Given the description of an element on the screen output the (x, y) to click on. 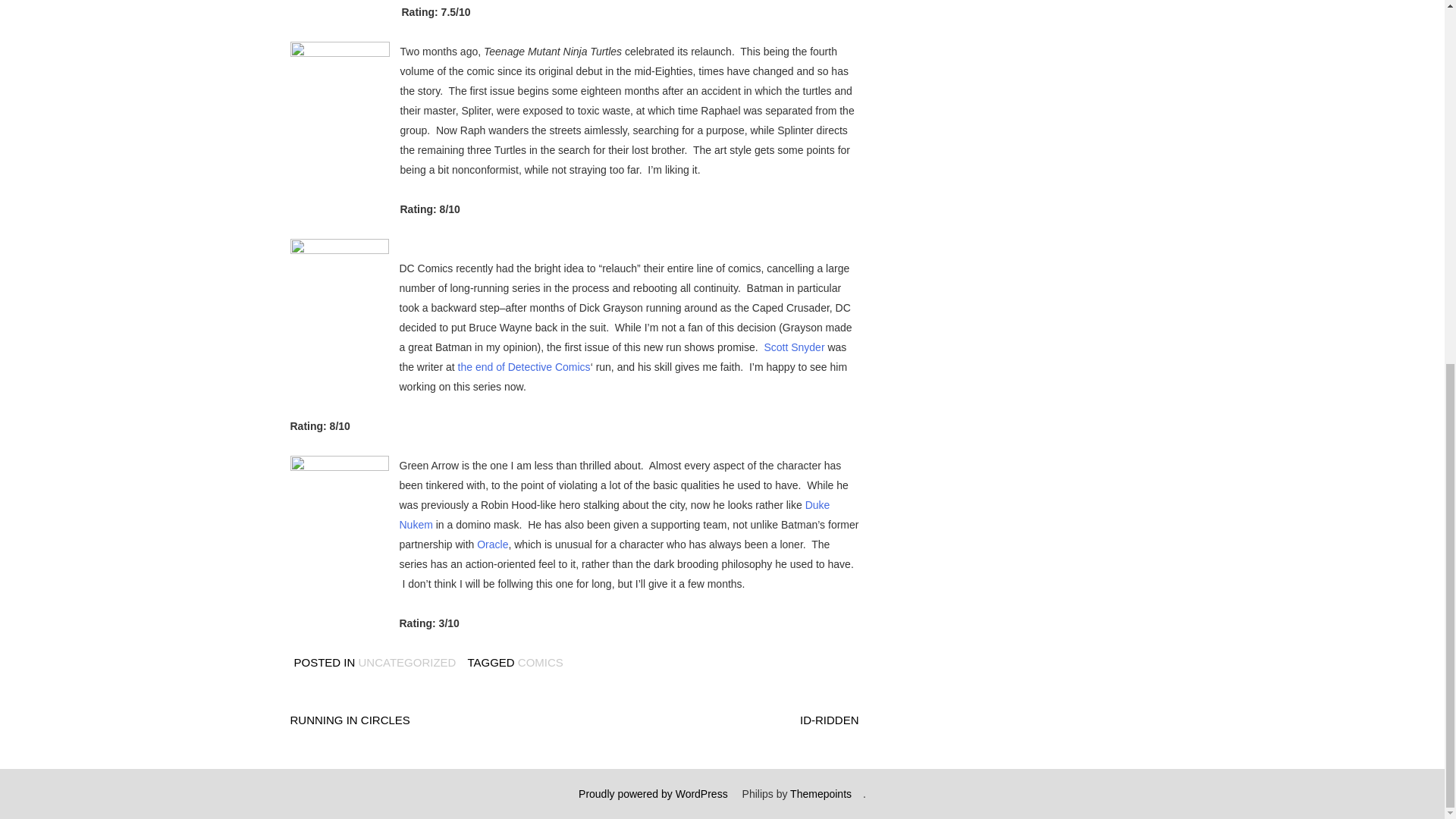
Scott Snyder (793, 346)
Proudly powered by WordPress (653, 793)
the end of Detective Comics (524, 367)
UNCATEGORIZED (407, 662)
Duke Nukem (613, 514)
RUNNING IN CIRCLES (349, 719)
Oracle (492, 544)
ID-RIDDEN (829, 719)
Themepoints (820, 793)
COMICS (540, 662)
